Given the description of an element on the screen output the (x, y) to click on. 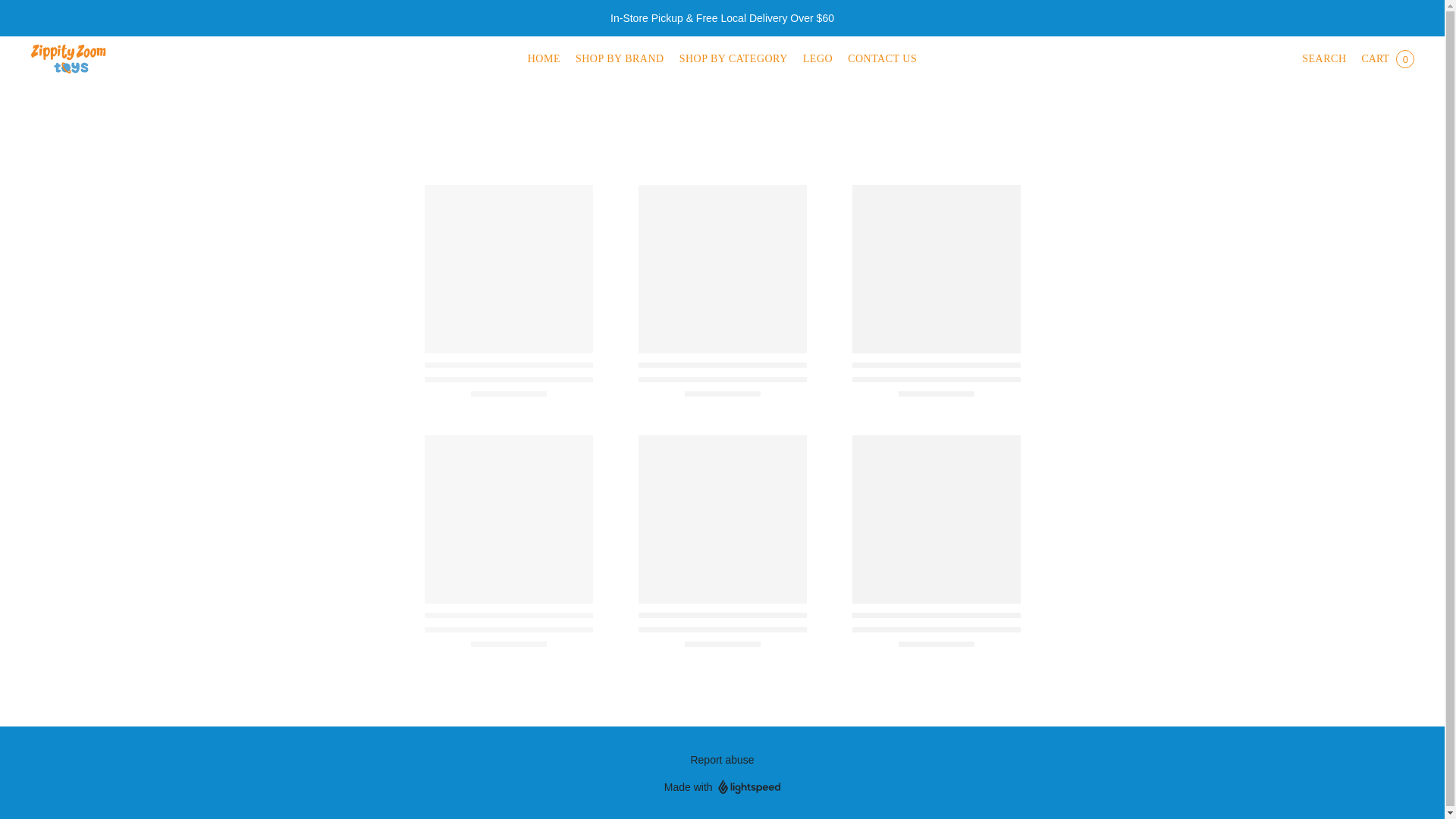
HOME (547, 59)
Made with (721, 787)
SHOP BY CATEGORY (732, 59)
CONTACT US (878, 59)
Go to your shopping cart (1387, 59)
Report abuse (722, 760)
LEGO (817, 59)
Search the website (1323, 59)
SEARCH (1323, 59)
CART (1387, 59)
SHOP BY BRAND (619, 59)
